Given the description of an element on the screen output the (x, y) to click on. 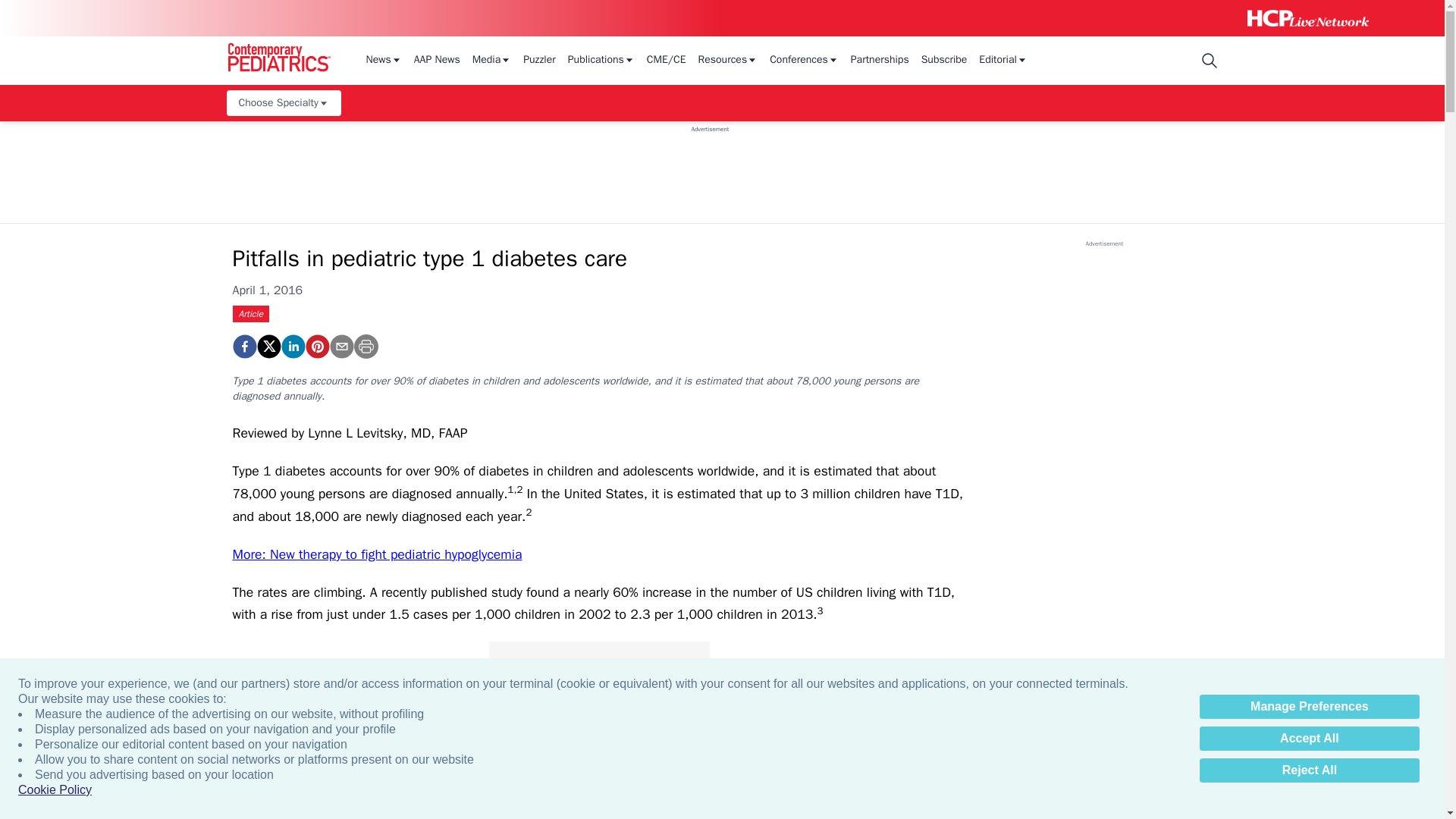
Reject All (1309, 769)
Cookie Policy (54, 789)
3rd party ad content (709, 167)
Pitfalls in pediatric type 1 diabetes care (243, 346)
Puzzler (539, 60)
Manage Preferences (1309, 706)
Publications (600, 60)
News (383, 60)
Media (491, 60)
Pitfalls in pediatric type 1 diabetes care (316, 346)
Accept All (1309, 738)
AAP News (436, 60)
